Given the description of an element on the screen output the (x, y) to click on. 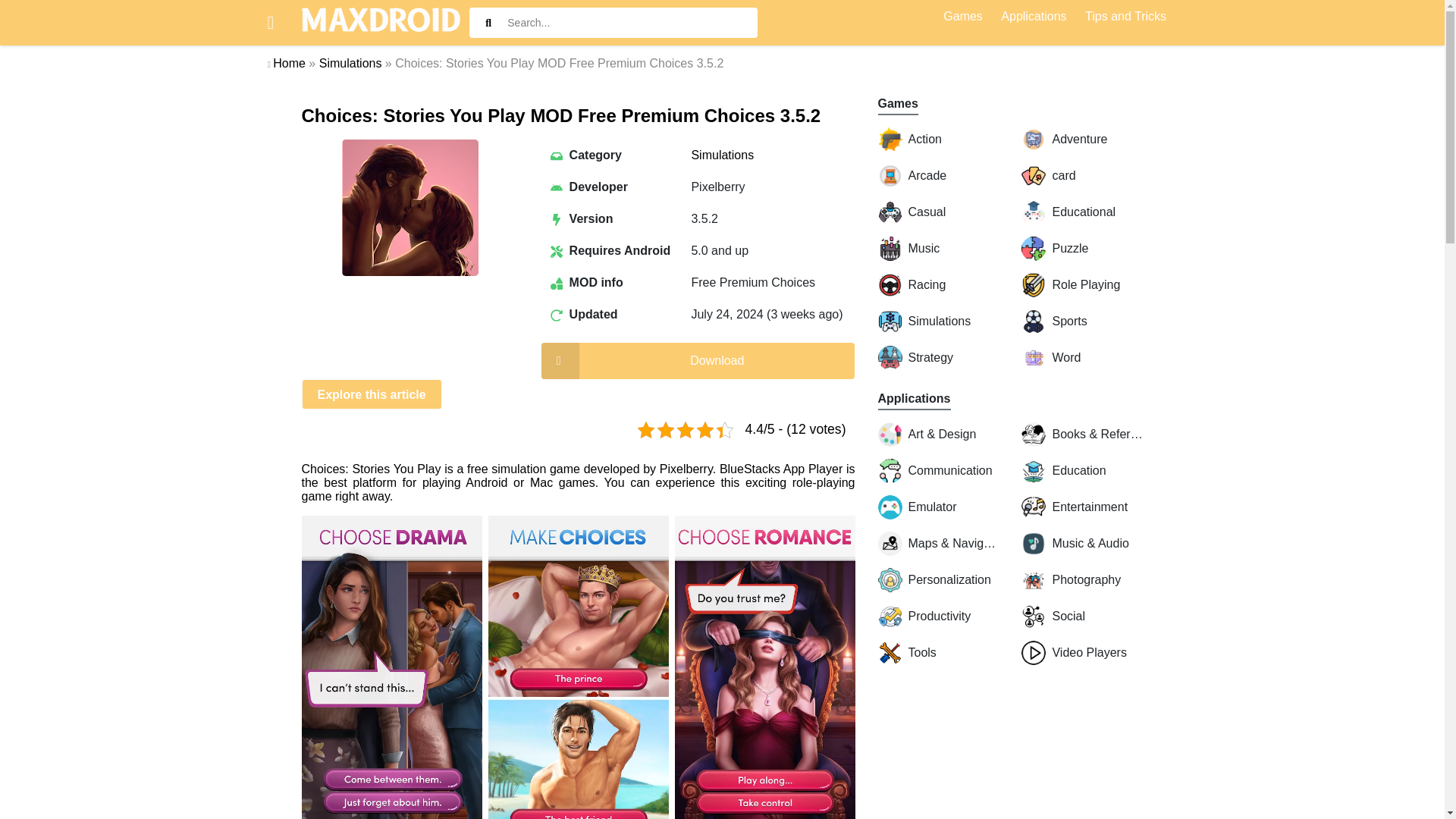
Simulations (722, 154)
MaxDroid.net - Download games and applications for Android (380, 22)
card (1082, 175)
Tips and Tricks (1125, 18)
Games (963, 18)
Action (937, 139)
Home (289, 62)
Tips and Tricks (1125, 18)
Casual (937, 211)
Adventure (1082, 139)
